Given the description of an element on the screen output the (x, y) to click on. 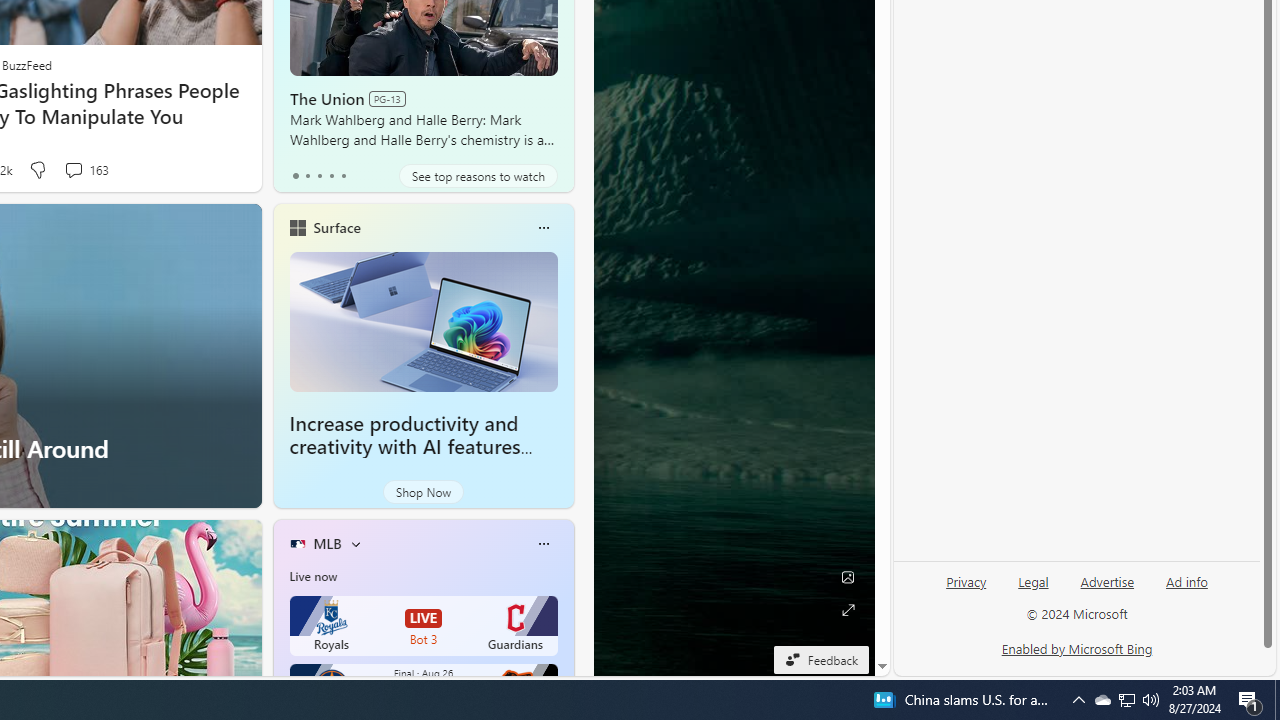
Royals LIVE Bot 3 Guardians (423, 625)
Ad info (1187, 582)
tab-3 (331, 175)
View comments 163 Comment (73, 169)
Ad info (1186, 589)
Shop Now (422, 491)
More interests (355, 543)
Class: icon-img (543, 543)
tab-1 (306, 175)
Legal (1033, 582)
Expand background (847, 610)
tab-4 (342, 175)
